Given the description of an element on the screen output the (x, y) to click on. 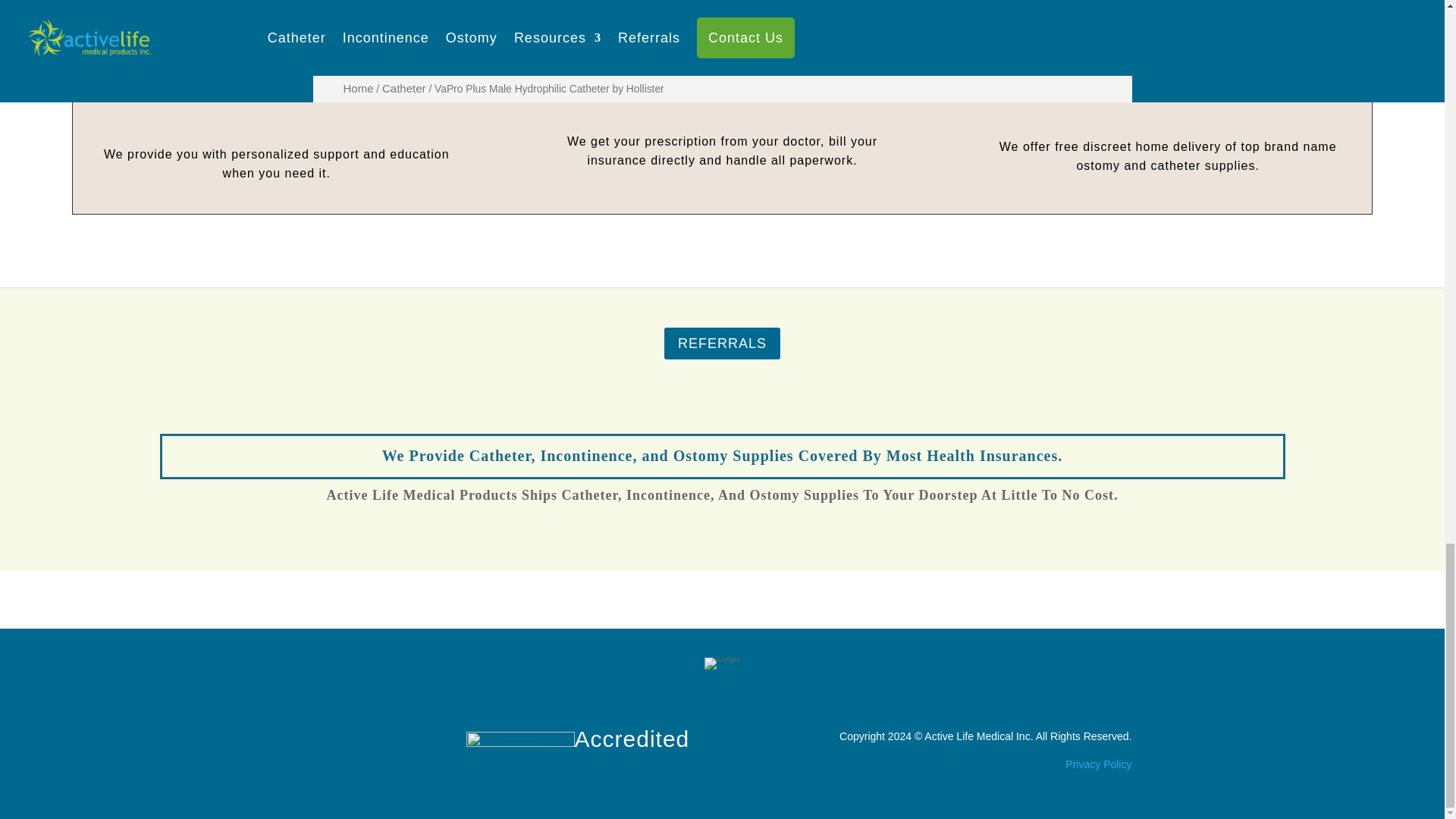
Privacy Policy (1098, 764)
REFERRALS (721, 342)
Active Life Medical Inc (976, 735)
icon-checklist transparent (721, 67)
LogoFooter (721, 663)
icon-headset transparent (277, 77)
icon-package transparent (1168, 72)
